Given the description of an element on the screen output the (x, y) to click on. 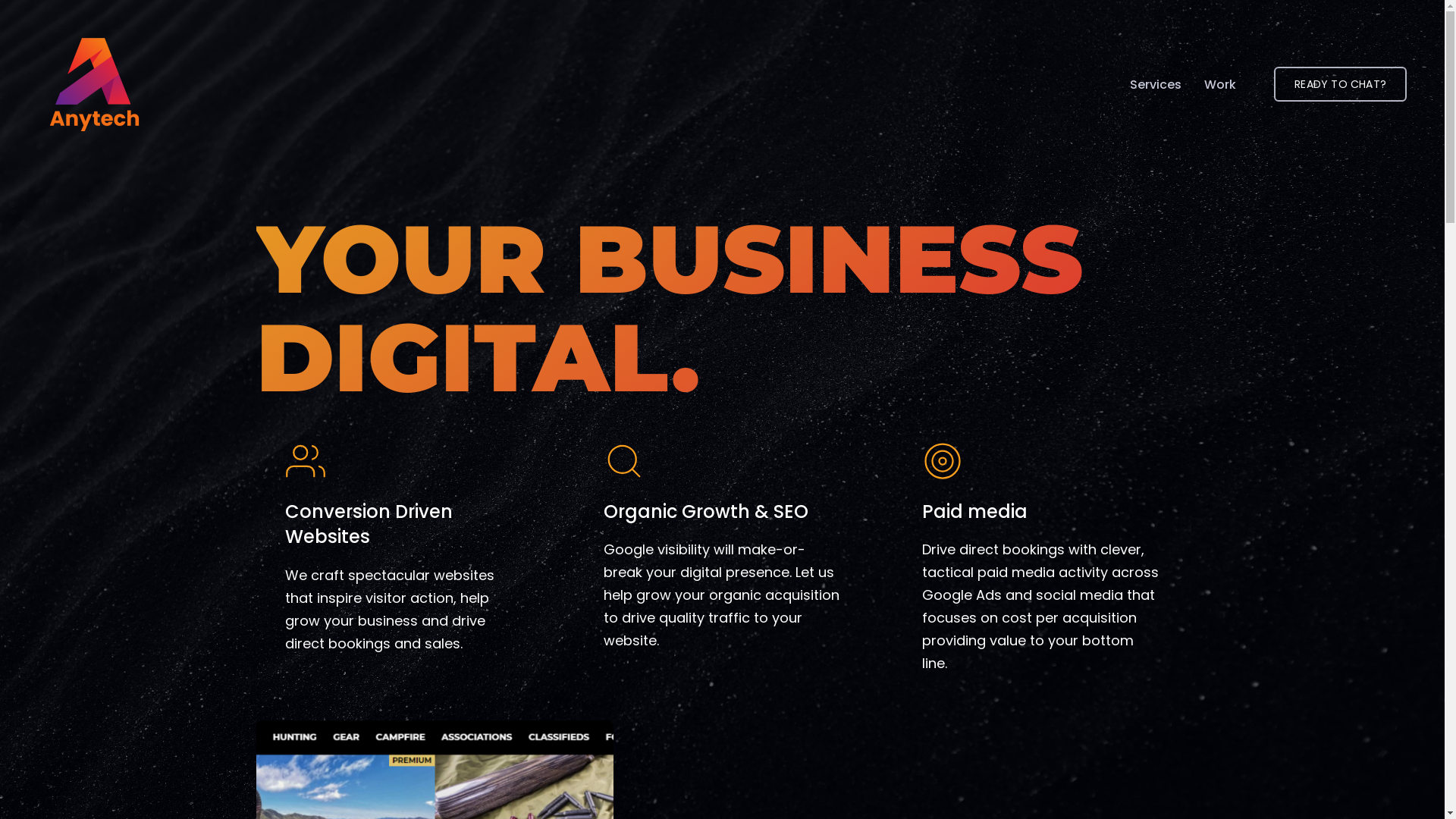
READY TO CHAT? Element type: text (1340, 83)
Work Element type: text (1220, 84)
Services Element type: text (1155, 84)
